Given the description of an element on the screen output the (x, y) to click on. 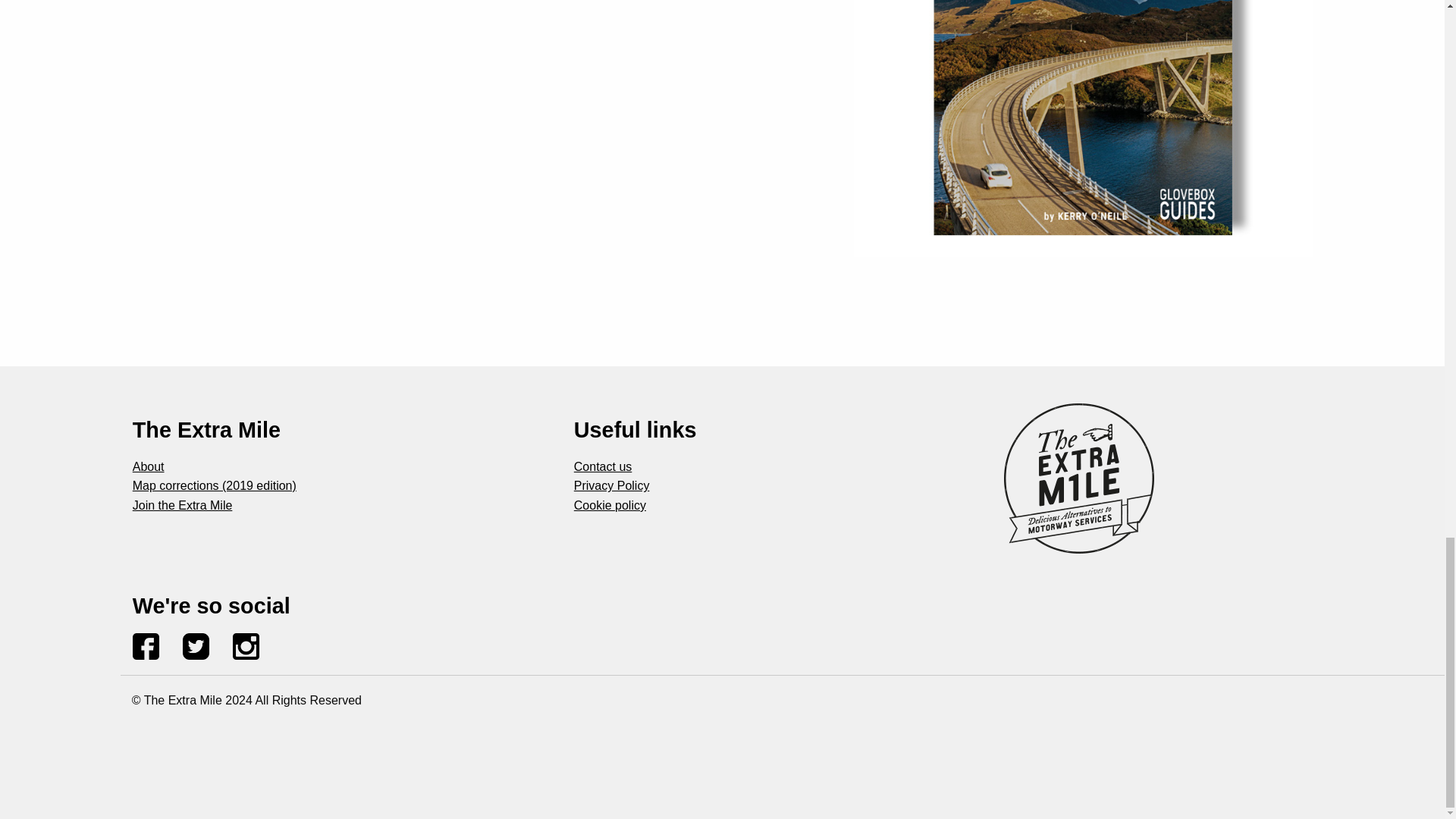
Join the Extra Mile (182, 504)
Cookie policy (609, 504)
About (148, 466)
Privacy Policy (611, 485)
Contact us (602, 466)
